Given the description of an element on the screen output the (x, y) to click on. 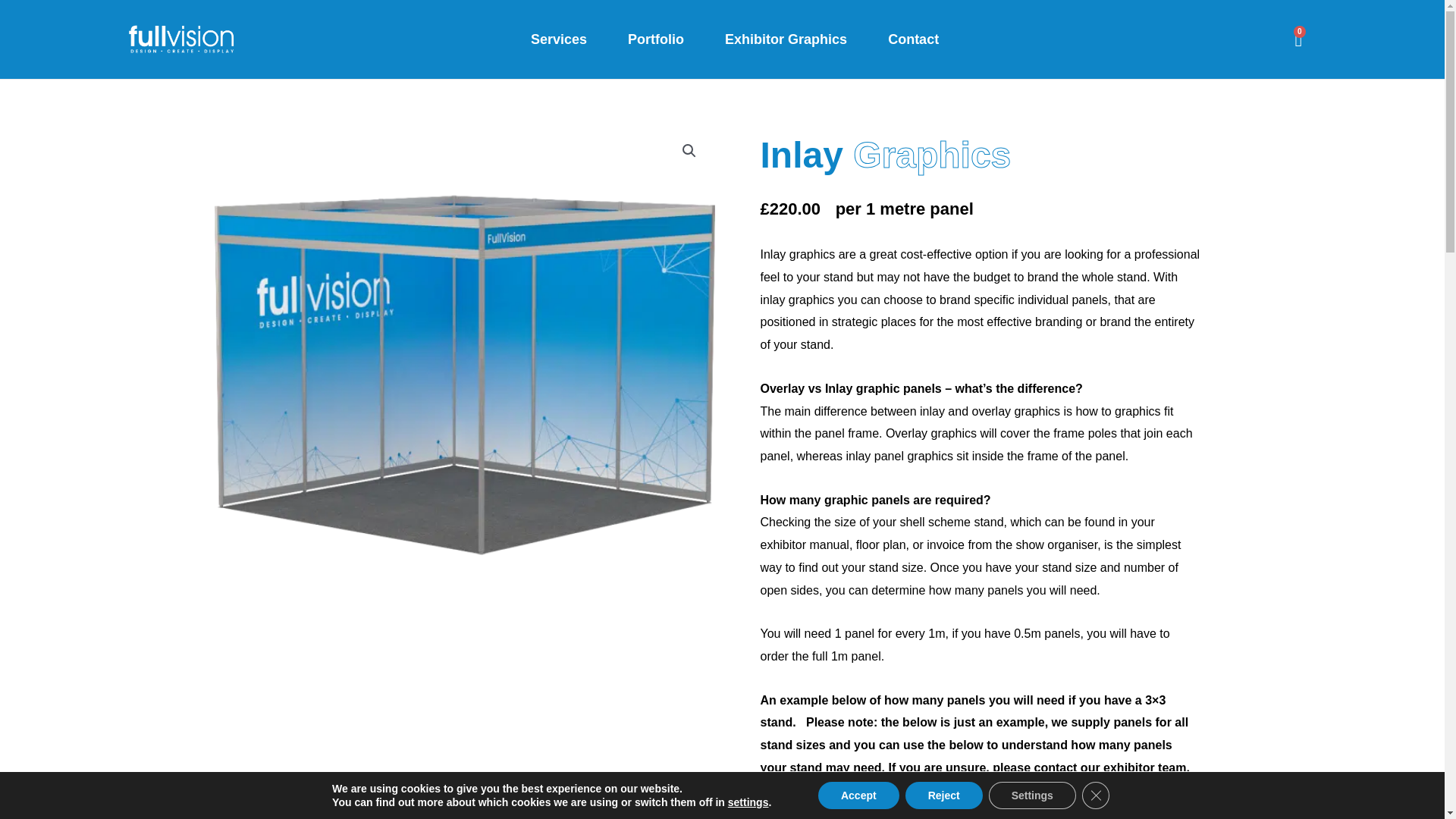
Portfolio (655, 39)
Services (558, 39)
Exhibitor Graphics (785, 39)
0 (1298, 38)
Contact (912, 39)
